Given the description of an element on the screen output the (x, y) to click on. 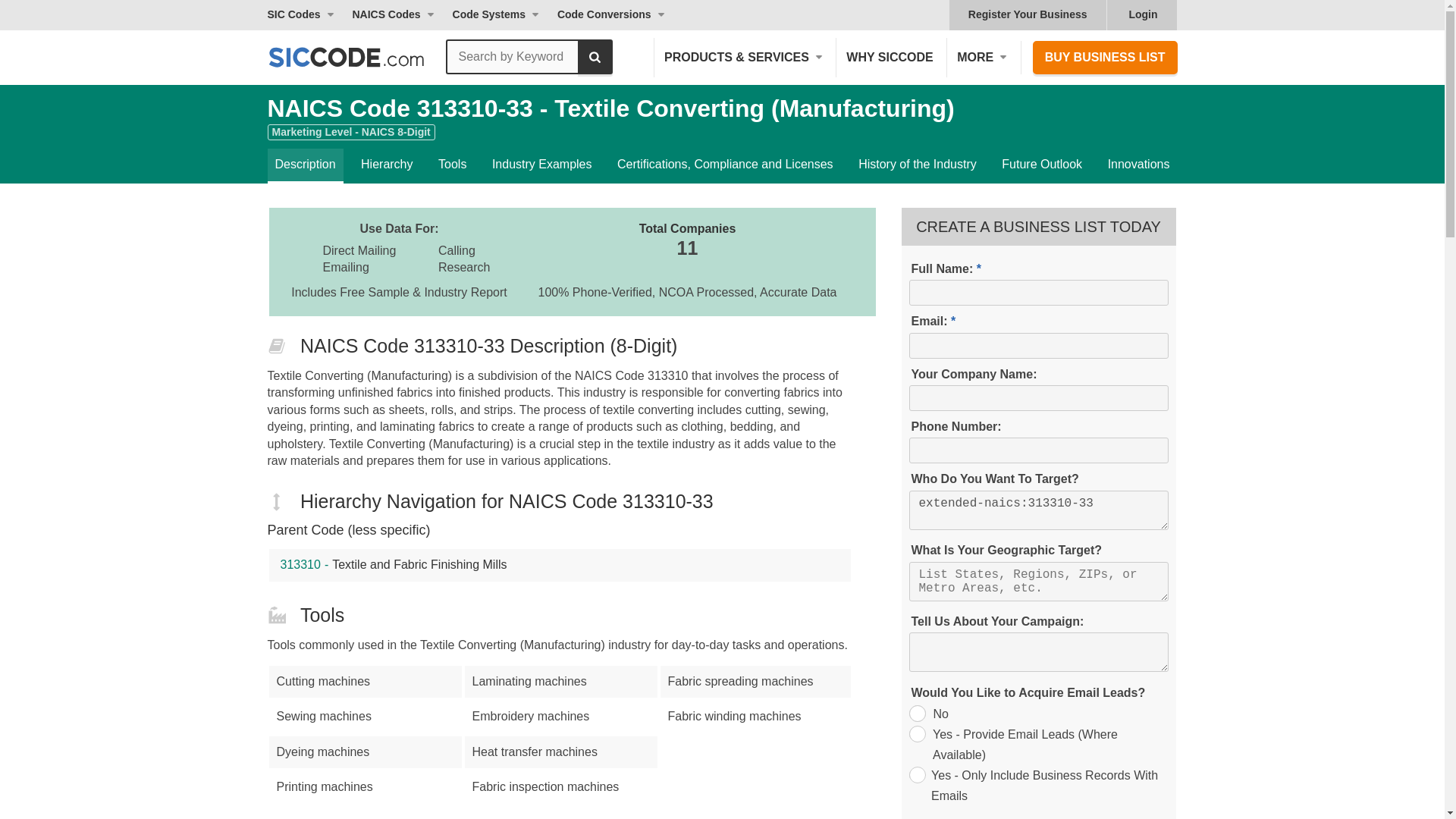
SEARCH (595, 56)
Yes, Only With Emails (915, 774)
No (916, 713)
SEARCH (595, 56)
Yes, where available (916, 733)
